Given the description of an element on the screen output the (x, y) to click on. 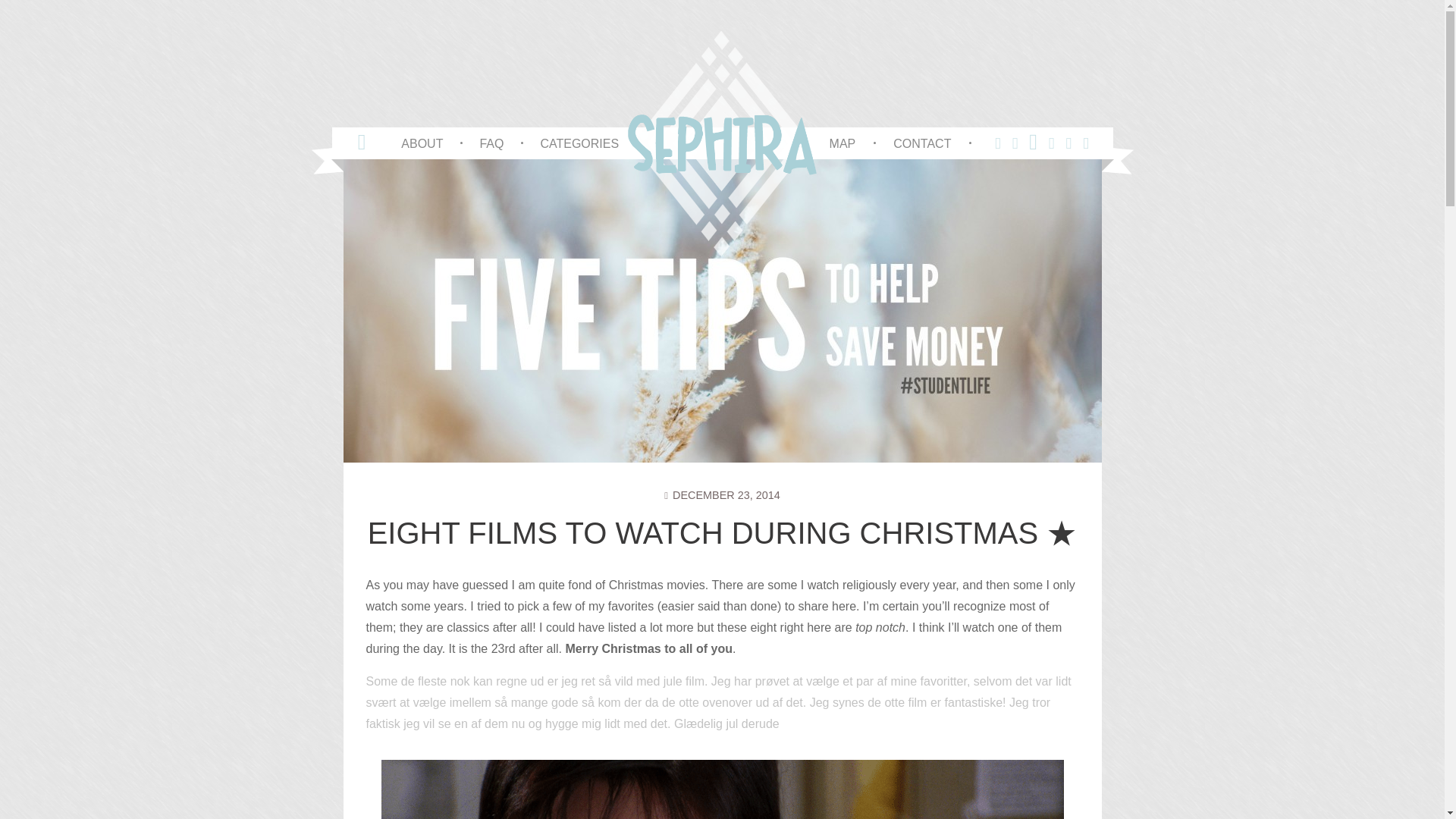
CONTACT (922, 142)
FAQ (491, 142)
ABOUT (421, 142)
MAP (842, 142)
CATEGORIES (579, 142)
